Given the description of an element on the screen output the (x, y) to click on. 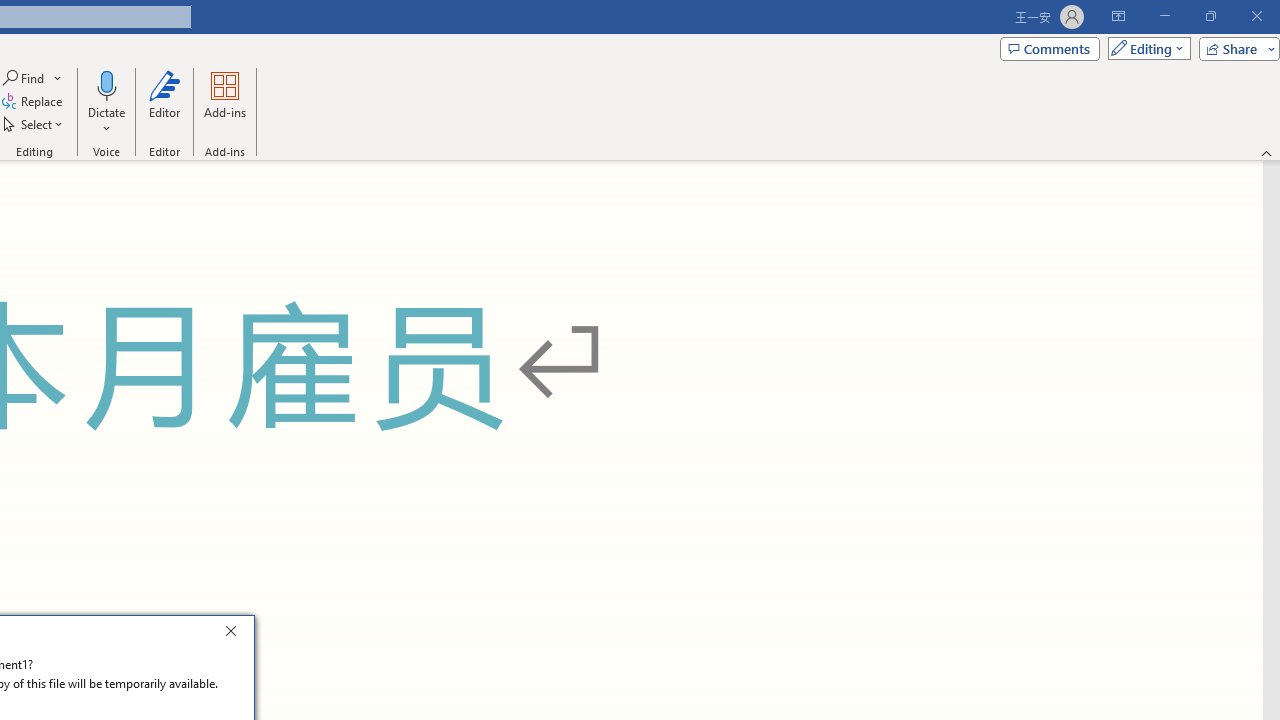
Editing (1144, 47)
